Given the description of an element on the screen output the (x, y) to click on. 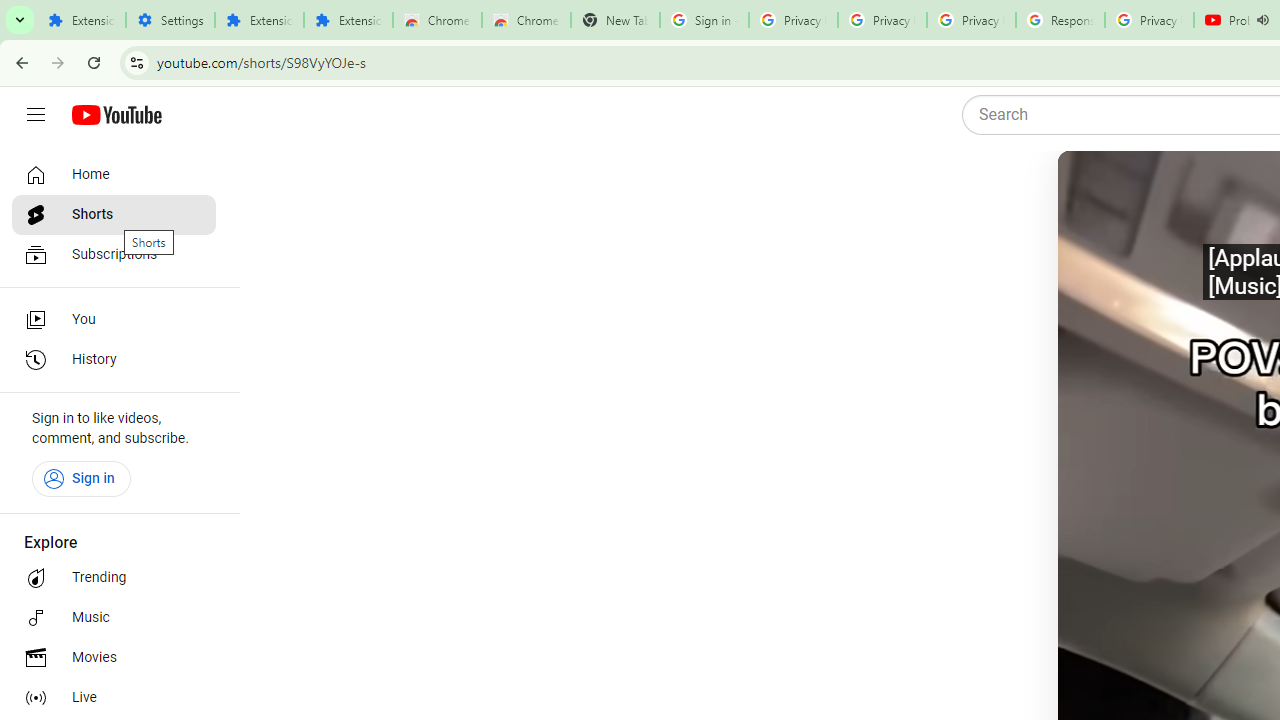
Mute (1161, 191)
Sign in - Google Accounts (704, 20)
Extensions (81, 20)
Movies (113, 657)
Pause (k) (1097, 191)
Chrome Web Store - Themes (526, 20)
